Given the description of an element on the screen output the (x, y) to click on. 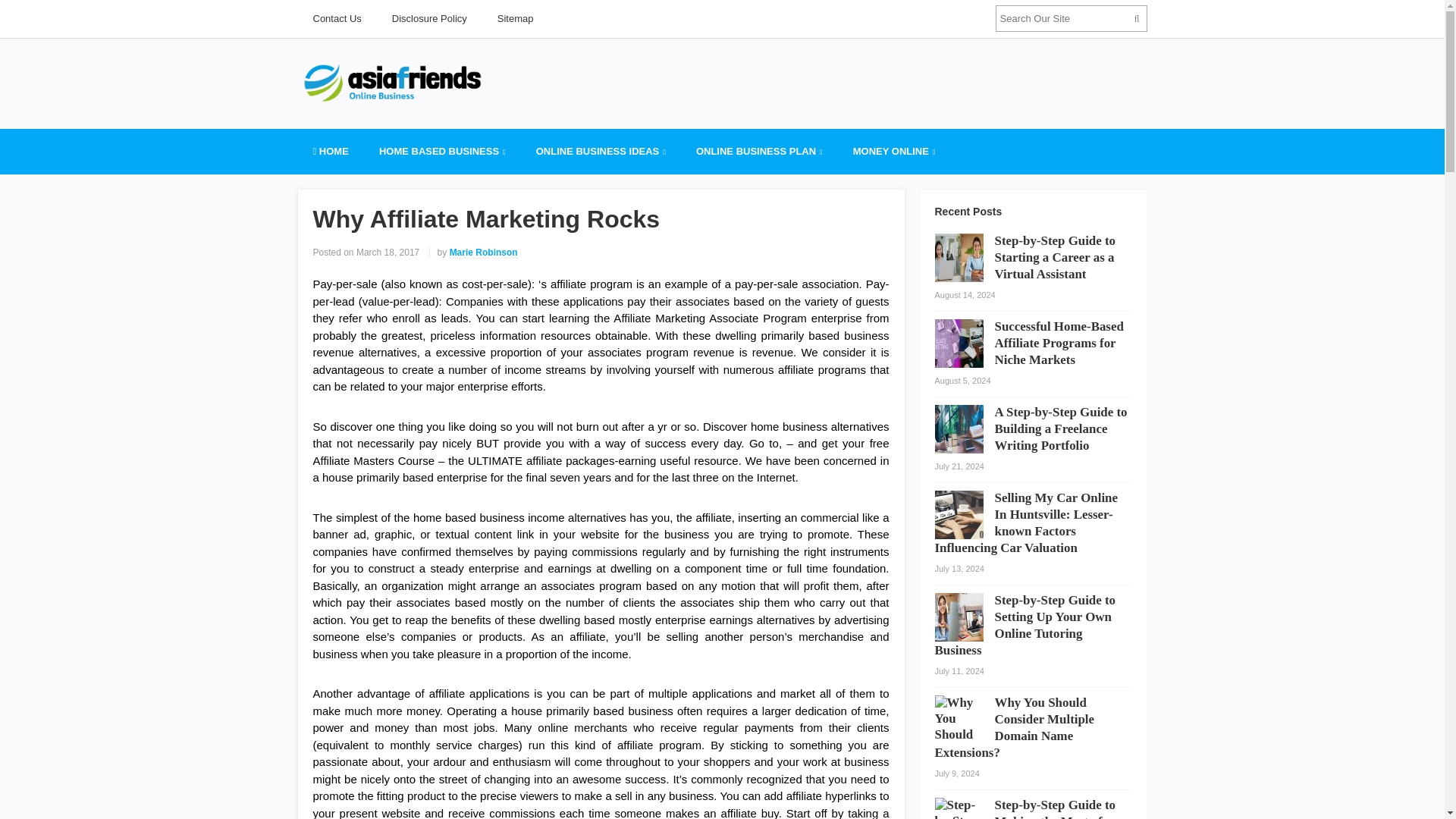
Disclosure Policy (429, 18)
Sitemap (514, 18)
Contact Us (336, 18)
